Given the description of an element on the screen output the (x, y) to click on. 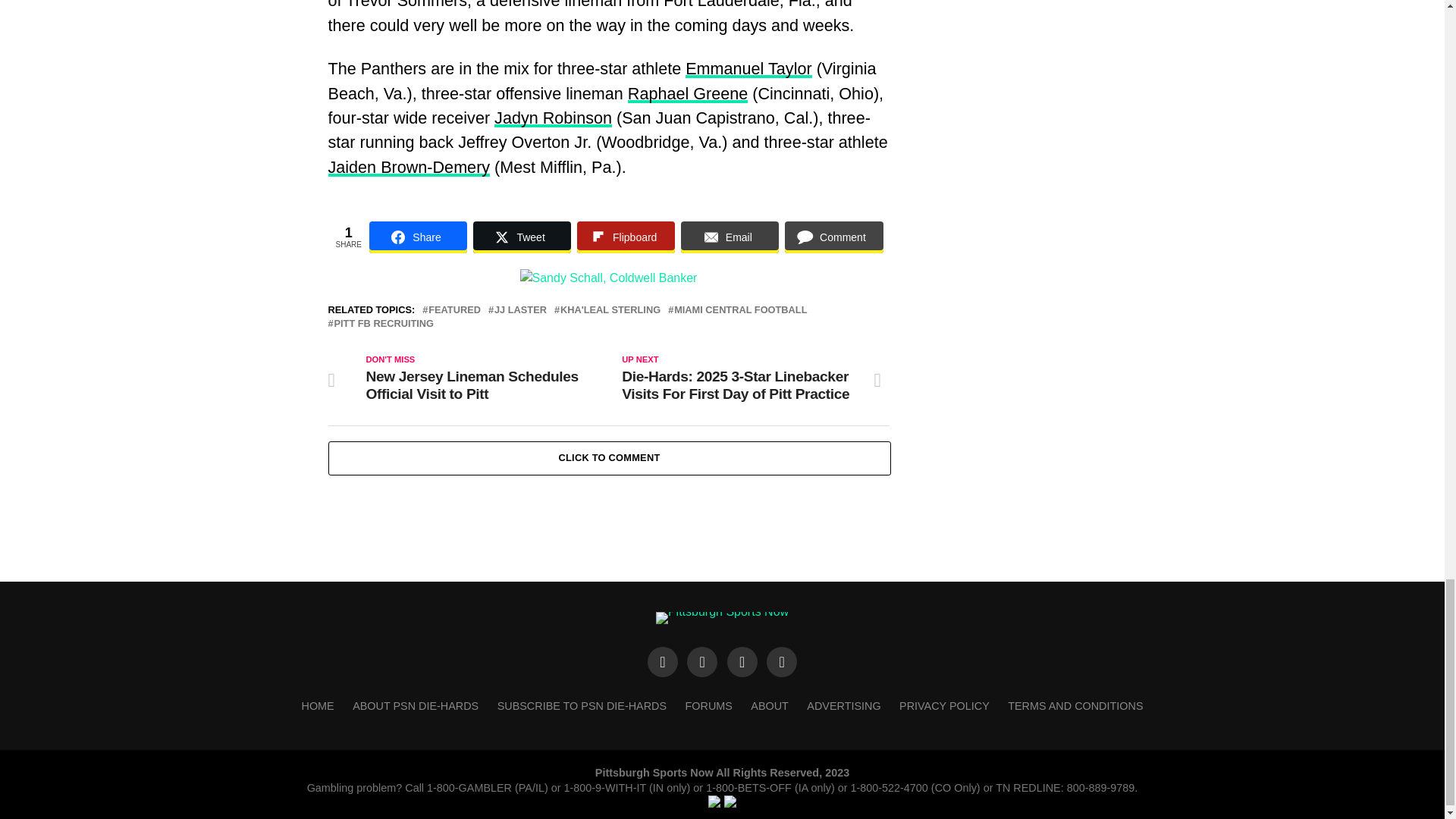
Share on Comment (833, 237)
Share on Share (418, 237)
Share on Tweet (521, 237)
Share on Flipboard (625, 237)
Share on Email (729, 237)
